Given the description of an element on the screen output the (x, y) to click on. 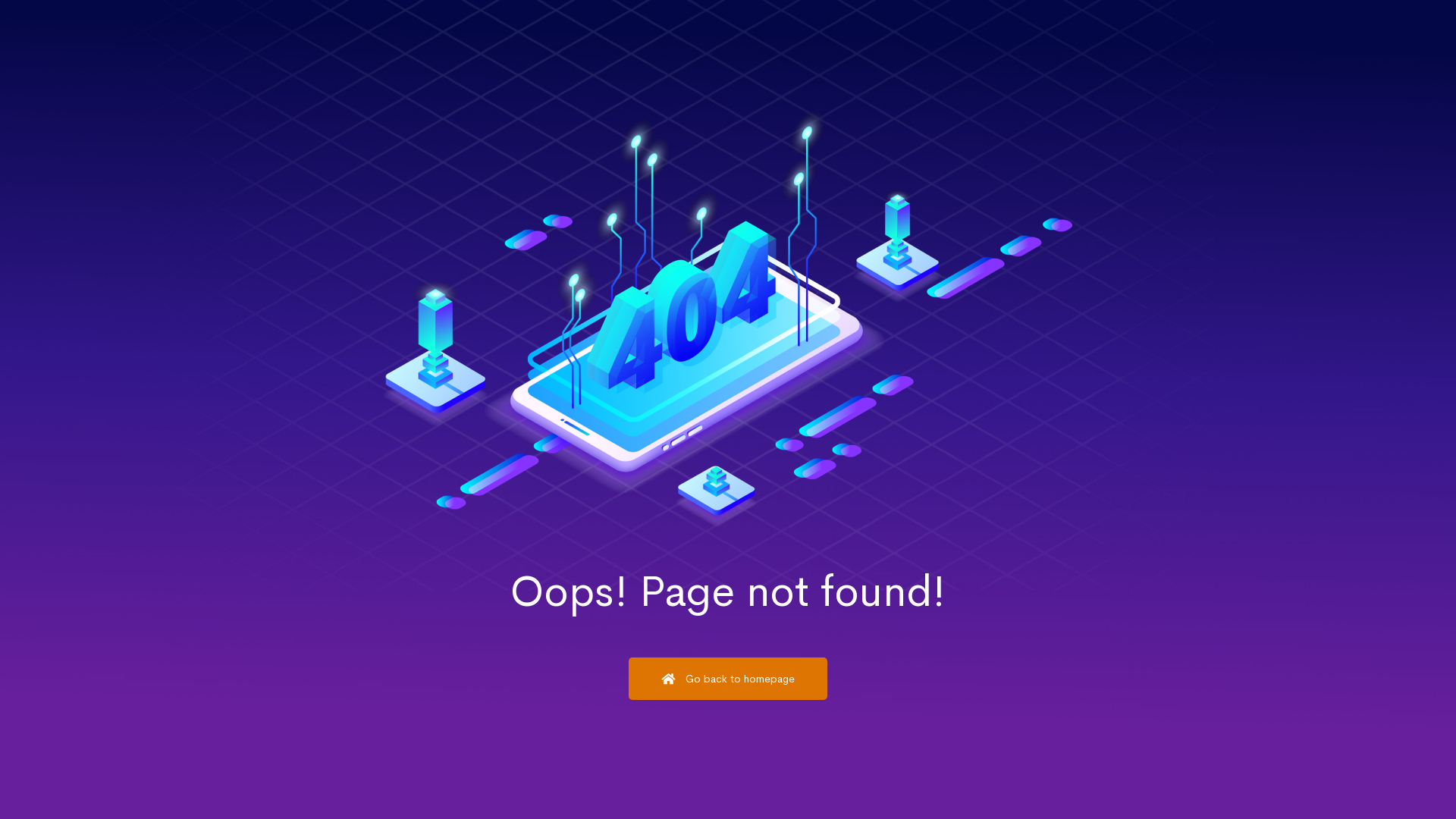
Go back to homepage Element type: text (727, 678)
